Given the description of an element on the screen output the (x, y) to click on. 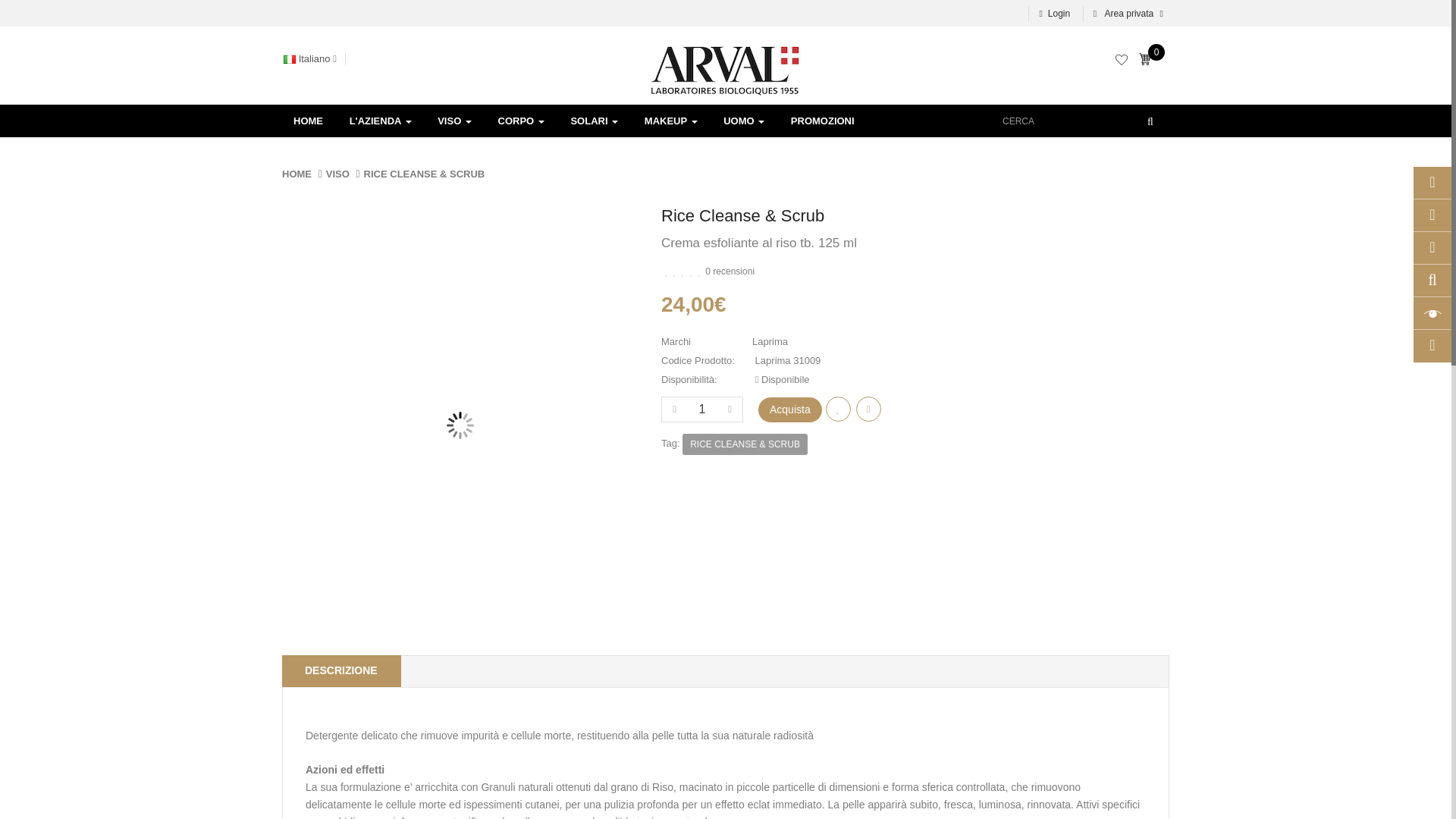
HOME (308, 120)
L'AZIENDA (380, 120)
Area privata  (1126, 13)
1 (702, 409)
0 (1147, 60)
Login (1054, 13)
Italiano  (314, 58)
Acquista (790, 409)
VISO (454, 120)
